Given the description of an element on the screen output the (x, y) to click on. 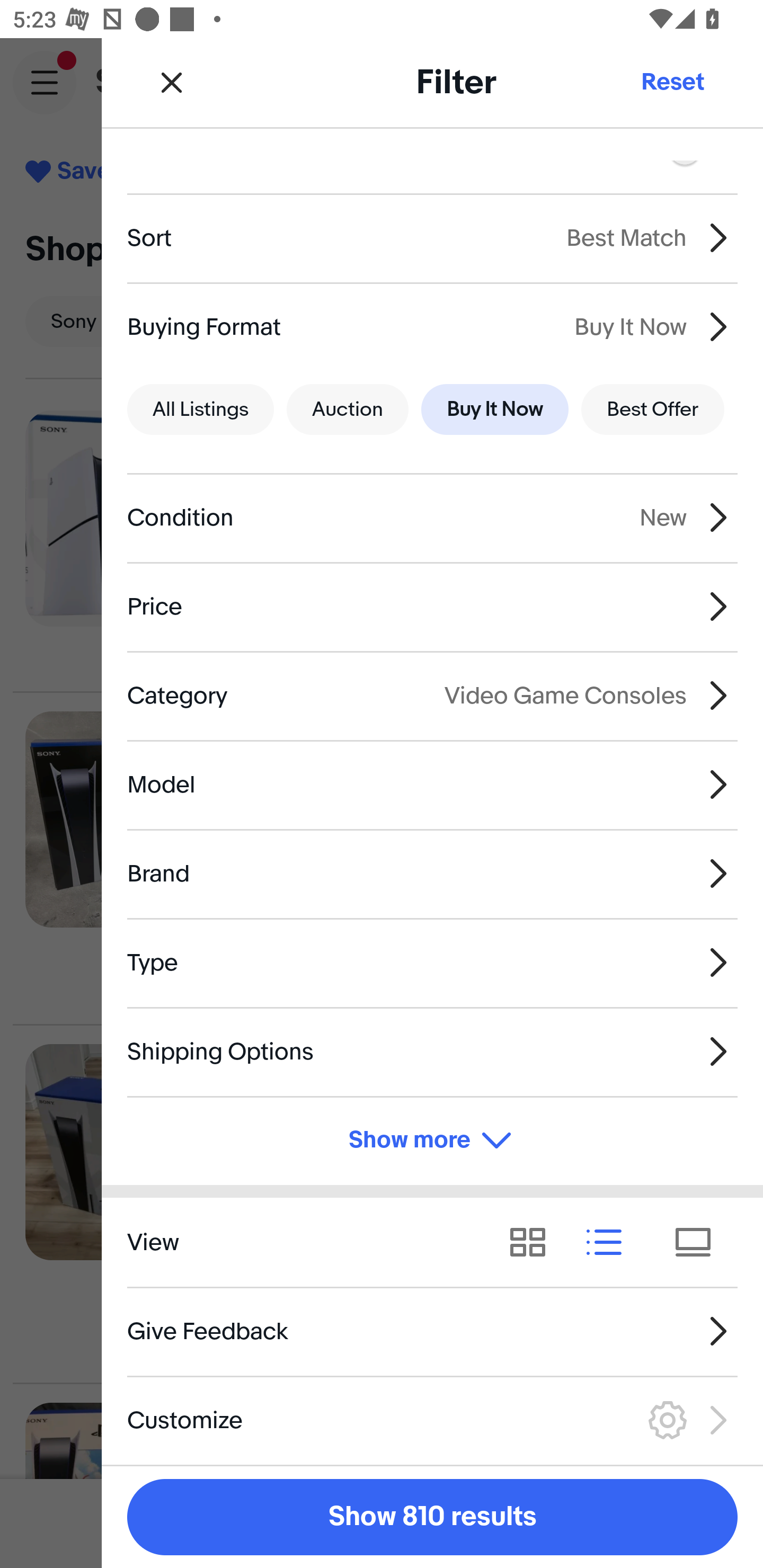
Close Filter (171, 81)
Reset (672, 81)
Buying Format Buy It Now (432, 326)
All Listings (200, 408)
Auction (347, 408)
Buy It Now (494, 408)
Best Offer (652, 408)
Condition New (432, 517)
Price (432, 605)
Category Video Game Consoles (432, 695)
Model (432, 784)
Brand (432, 873)
Type (432, 961)
Shipping Options (432, 1051)
Show more (432, 1140)
View results as grid (533, 1242)
View results as list (610, 1242)
View results as tiles (699, 1242)
Customize (432, 1419)
Show 810 results (432, 1516)
